Given the description of an element on the screen output the (x, y) to click on. 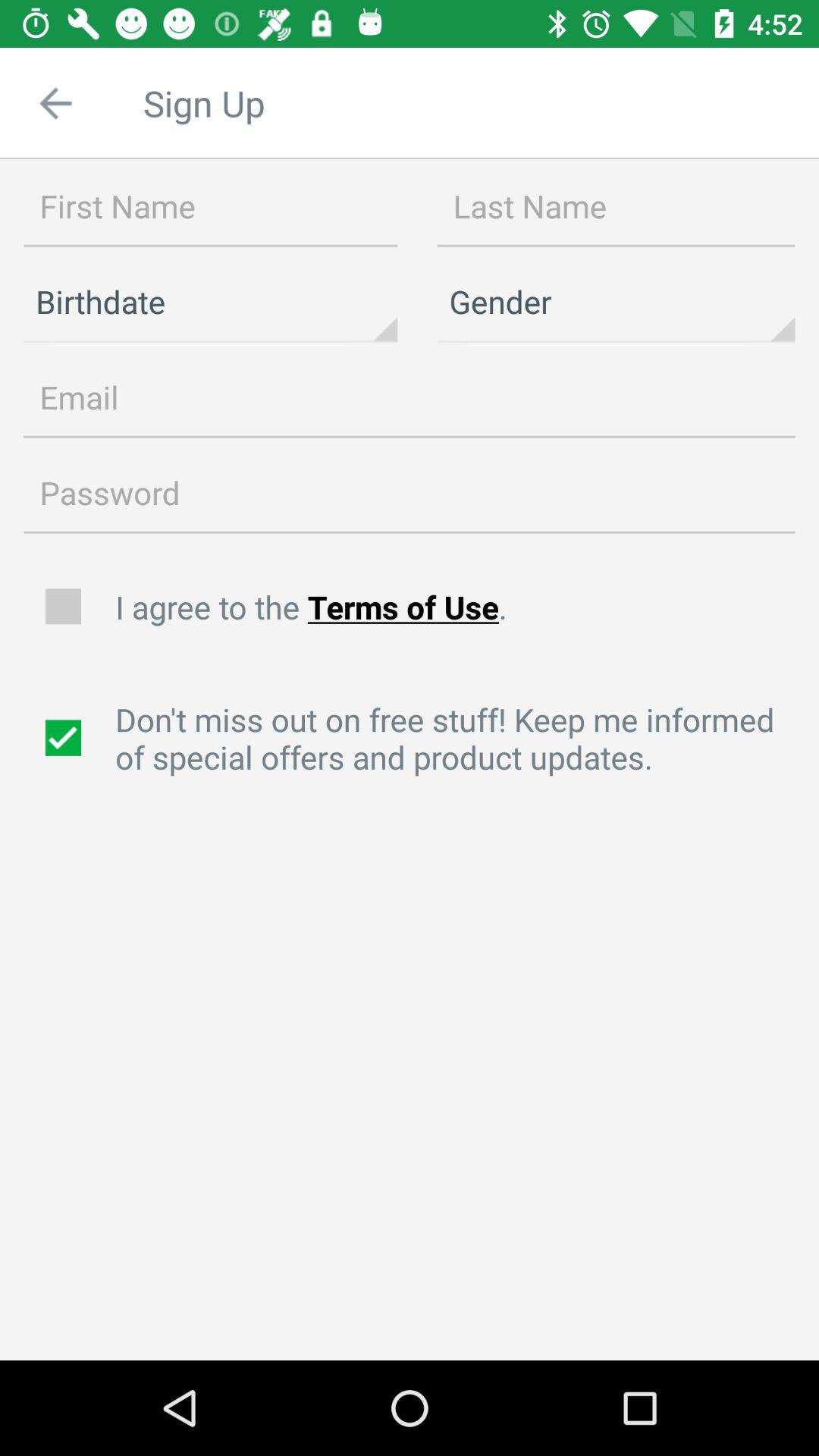
select the item above gender icon (616, 206)
